Given the description of an element on the screen output the (x, y) to click on. 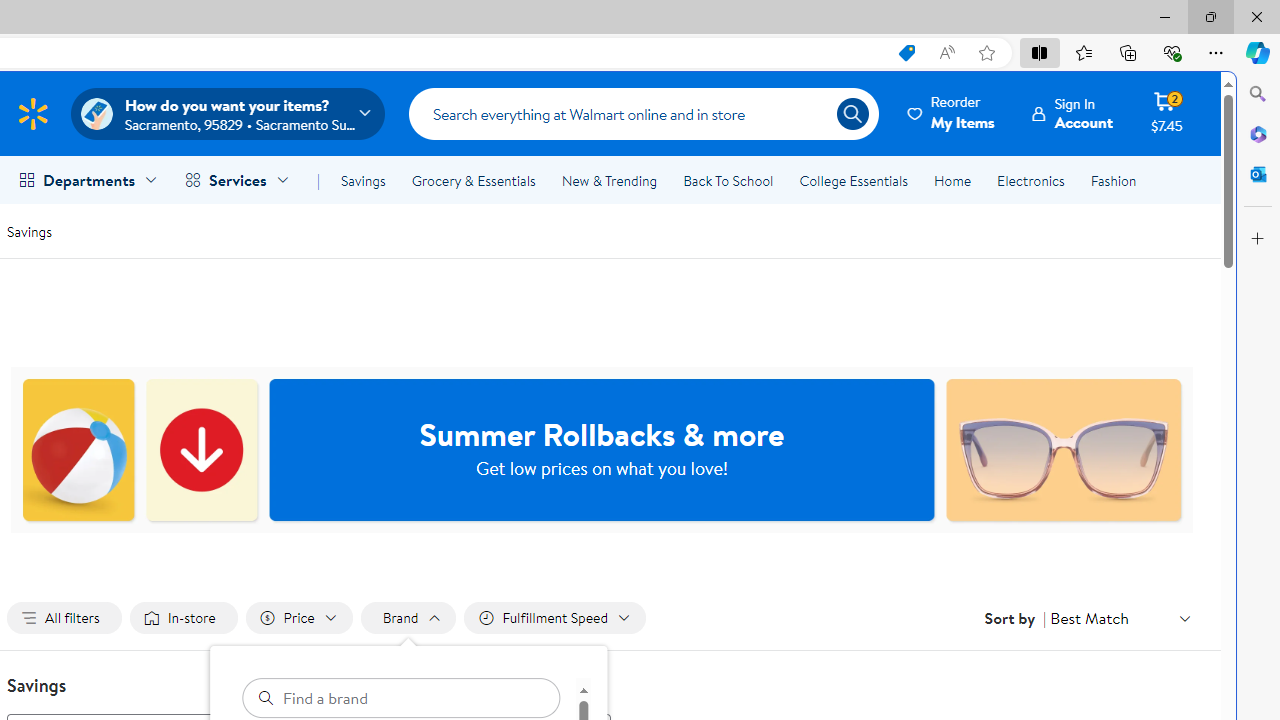
Savings (29, 230)
Electronics (1030, 180)
Sort by Best Match (1120, 618)
Filter by Price not applied, activate to change (298, 618)
Back To School (728, 180)
Filter by Brand not applied, activate to change (407, 618)
